Given the description of an element on the screen output the (x, y) to click on. 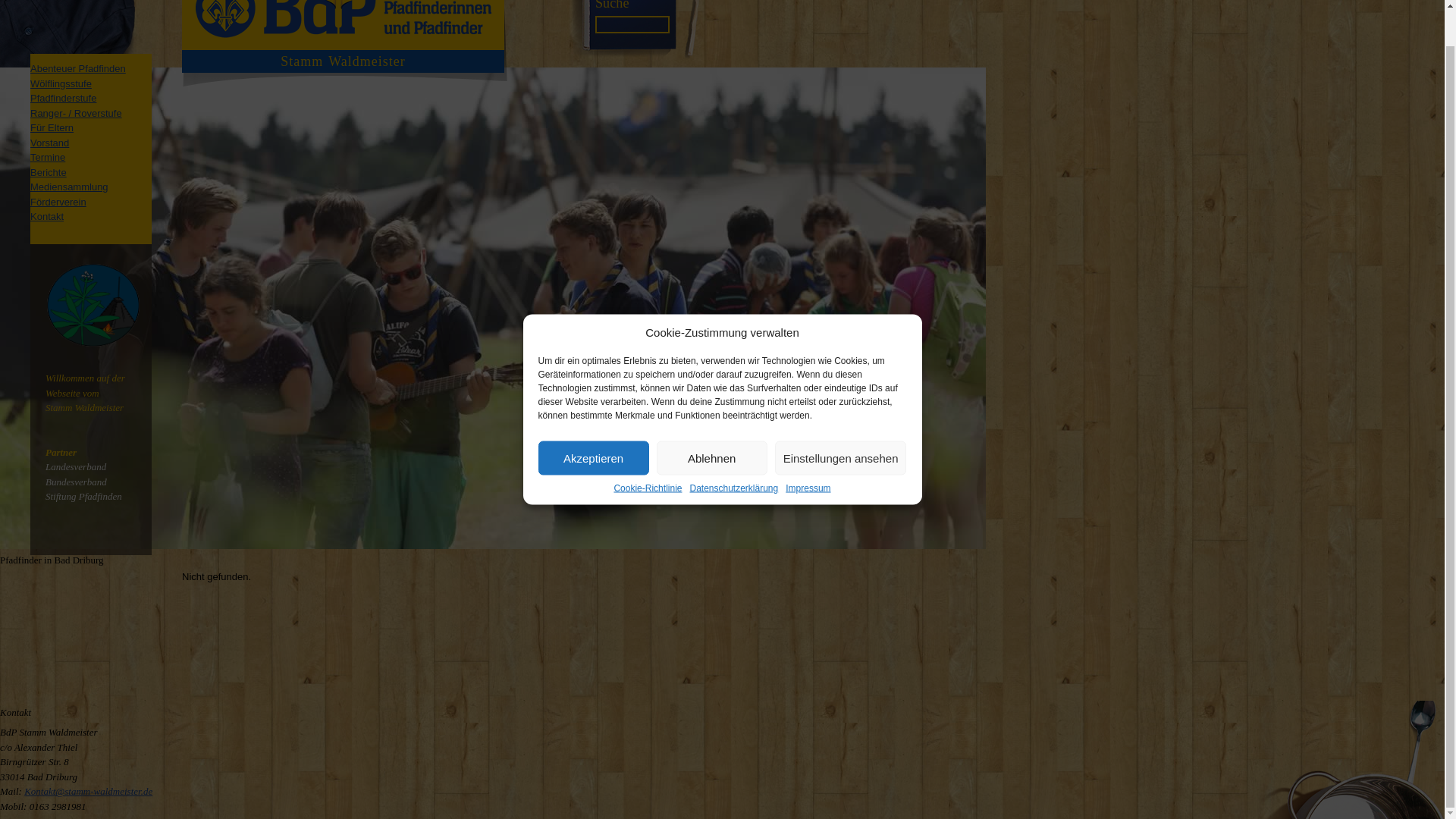
Berichte (48, 172)
Landesverband (75, 466)
Abenteuer Pfadfinden (77, 68)
Pfadfinderstufe (63, 98)
Cookie-Richtlinie (646, 450)
Mediensammlung (68, 186)
Suche (611, 5)
Einstellungen ansehen (840, 421)
Akzeptieren (593, 421)
Kontakt (47, 215)
